Given the description of an element on the screen output the (x, y) to click on. 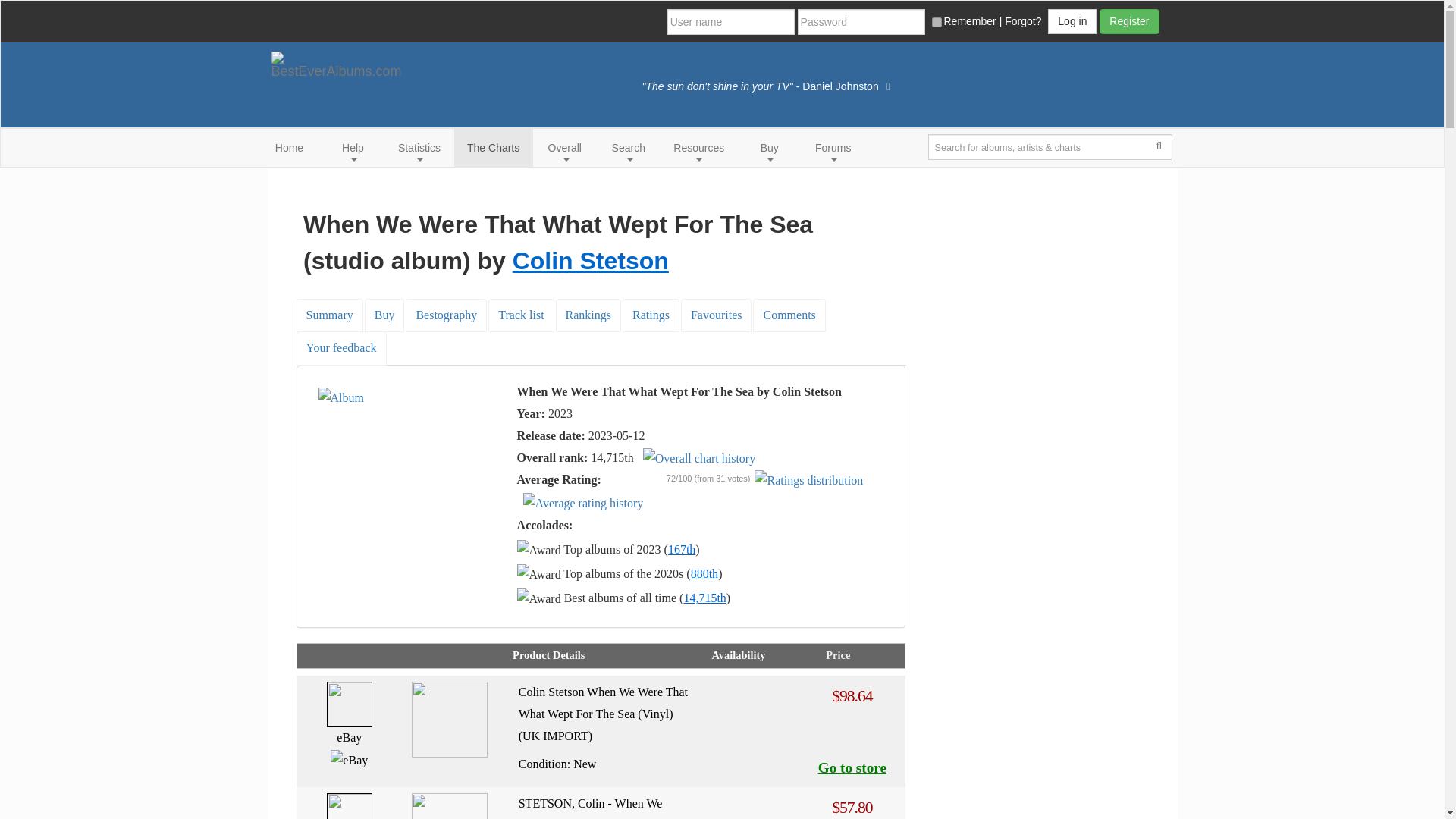
Forgot? (1022, 21)
Statistics (419, 147)
Overall (564, 147)
Log in (1072, 22)
on (935, 21)
Help (353, 147)
Home (289, 147)
Log in (1072, 22)
Register (1128, 22)
Random quote (888, 86)
